Given the description of an element on the screen output the (x, y) to click on. 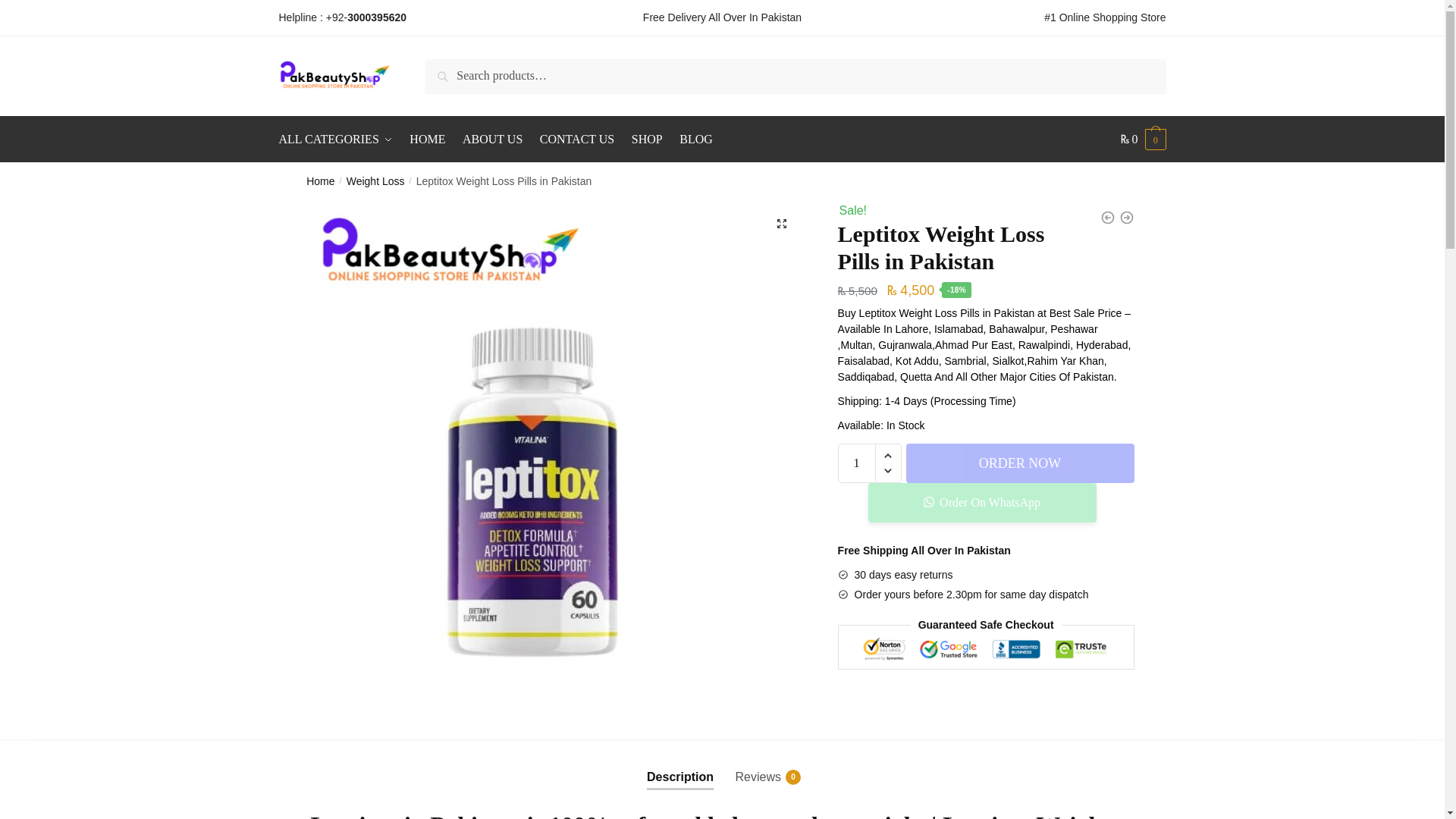
ORDER NOW (1019, 463)
View your shopping cart (1143, 139)
ALL CATEGORIES (757, 763)
ABOUT US (338, 139)
HOME (492, 139)
BLOG (427, 139)
CONTACT US (695, 139)
Weight Loss (576, 139)
SHOP (375, 181)
Leptitox Weight Loss Pills in Pakistan (646, 139)
Order On WhatsApp (679, 763)
Home (981, 502)
1 (319, 181)
